Given the description of an element on the screen output the (x, y) to click on. 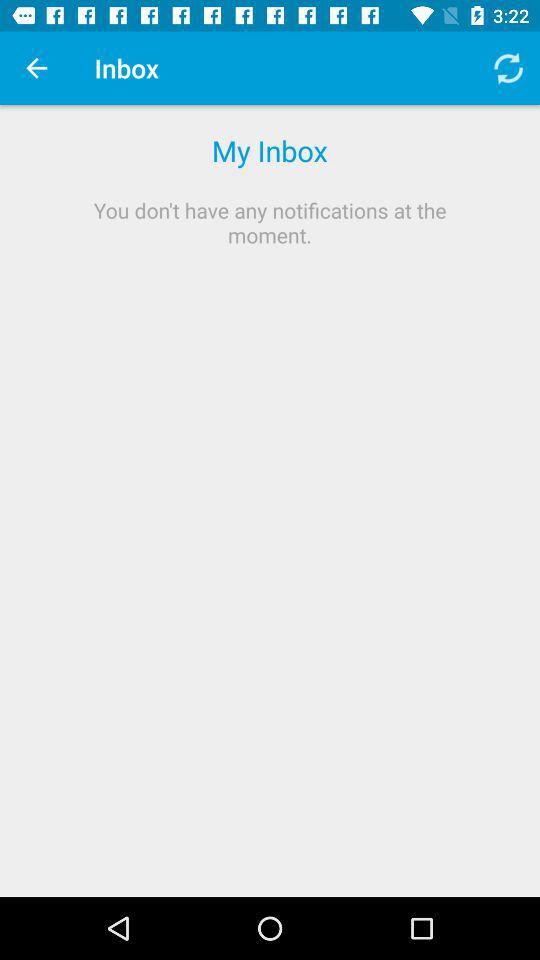
select the item to the left of inbox (36, 68)
